Given the description of an element on the screen output the (x, y) to click on. 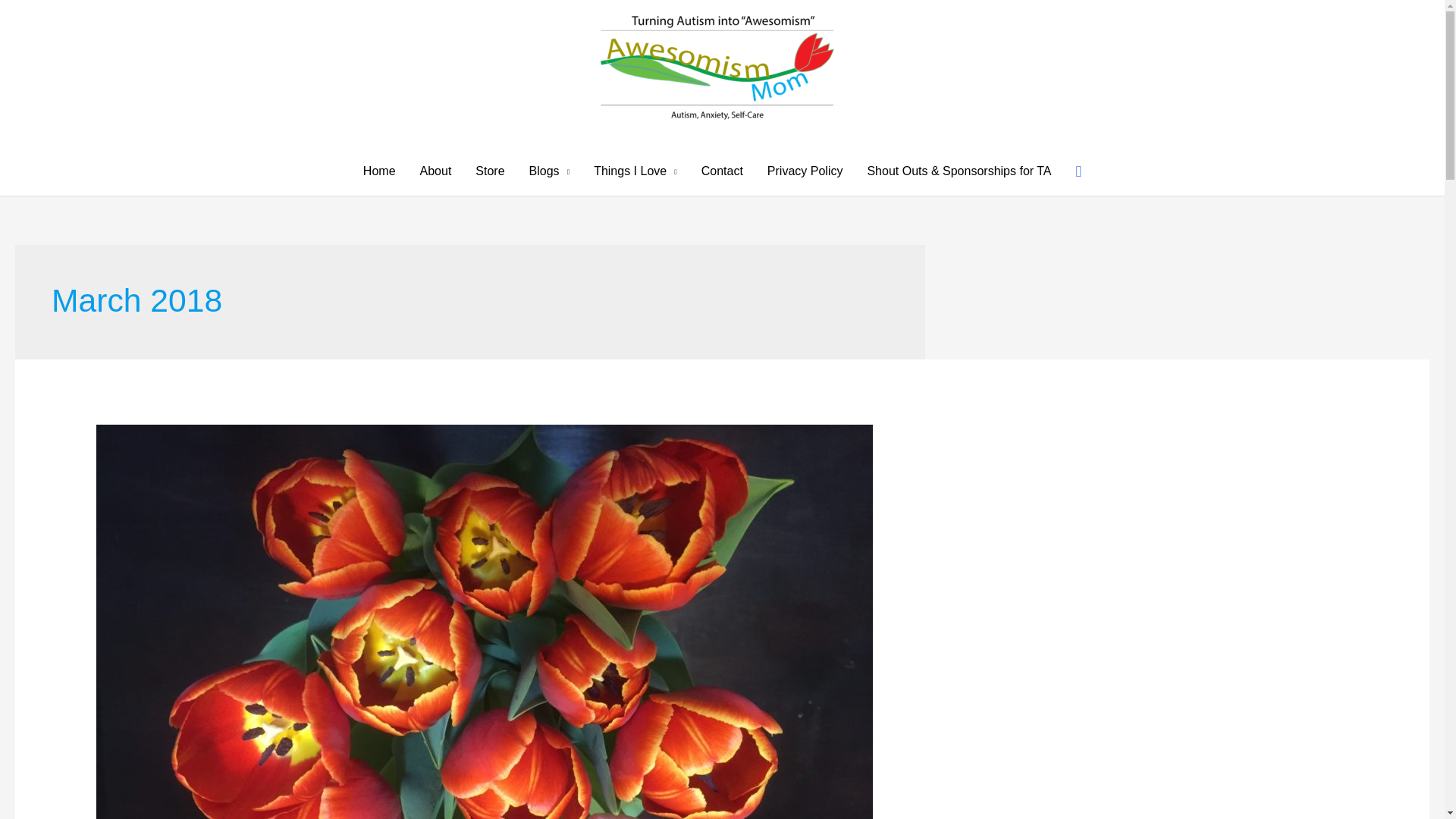
Things I Love (634, 171)
Contact (721, 171)
Store (489, 171)
About (435, 171)
Home (378, 171)
Privacy Policy (805, 171)
Blogs (549, 171)
